Given the description of an element on the screen output the (x, y) to click on. 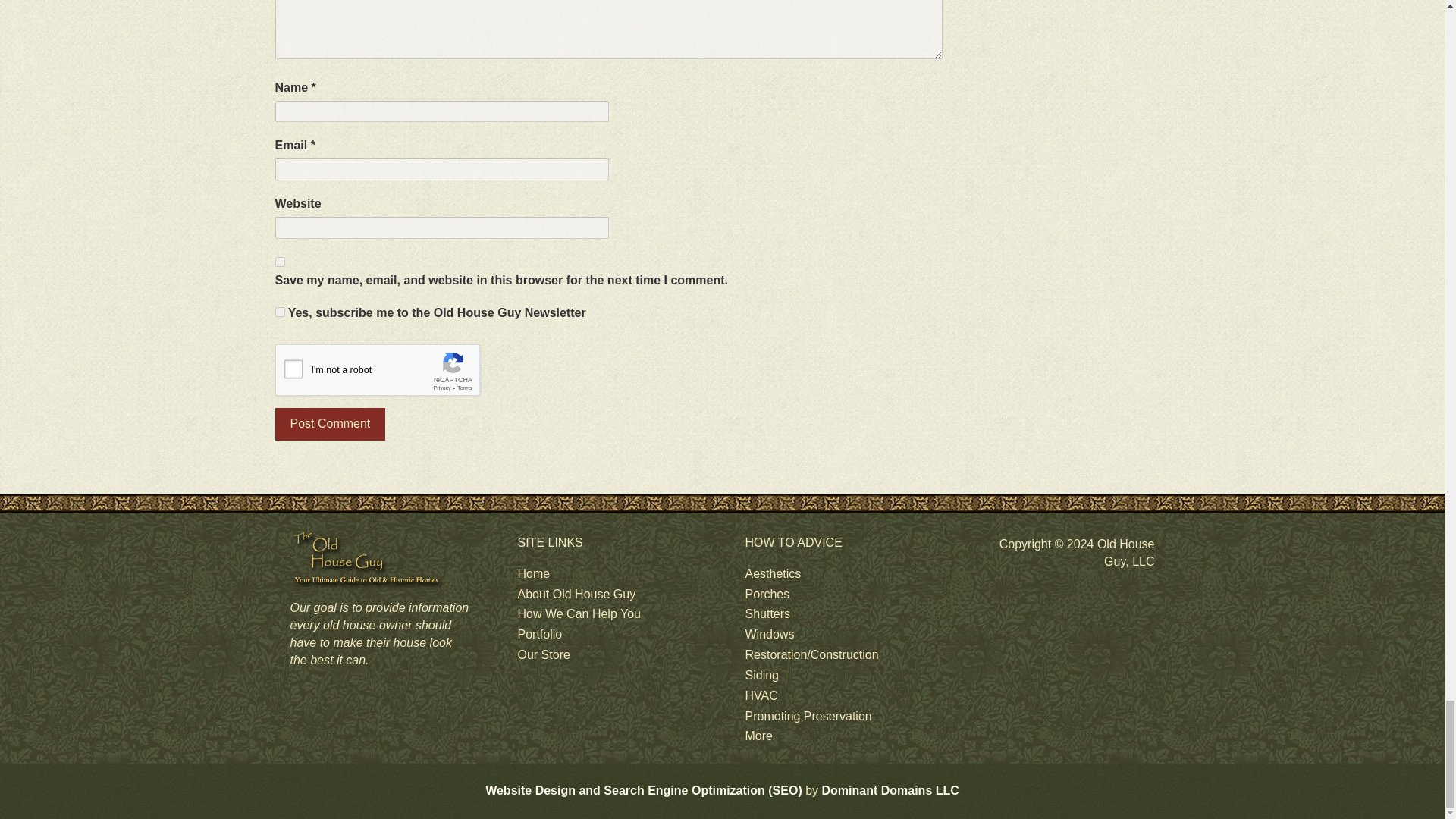
yes (279, 261)
1 (279, 311)
Post Comment (330, 423)
